Given the description of an element on the screen output the (x, y) to click on. 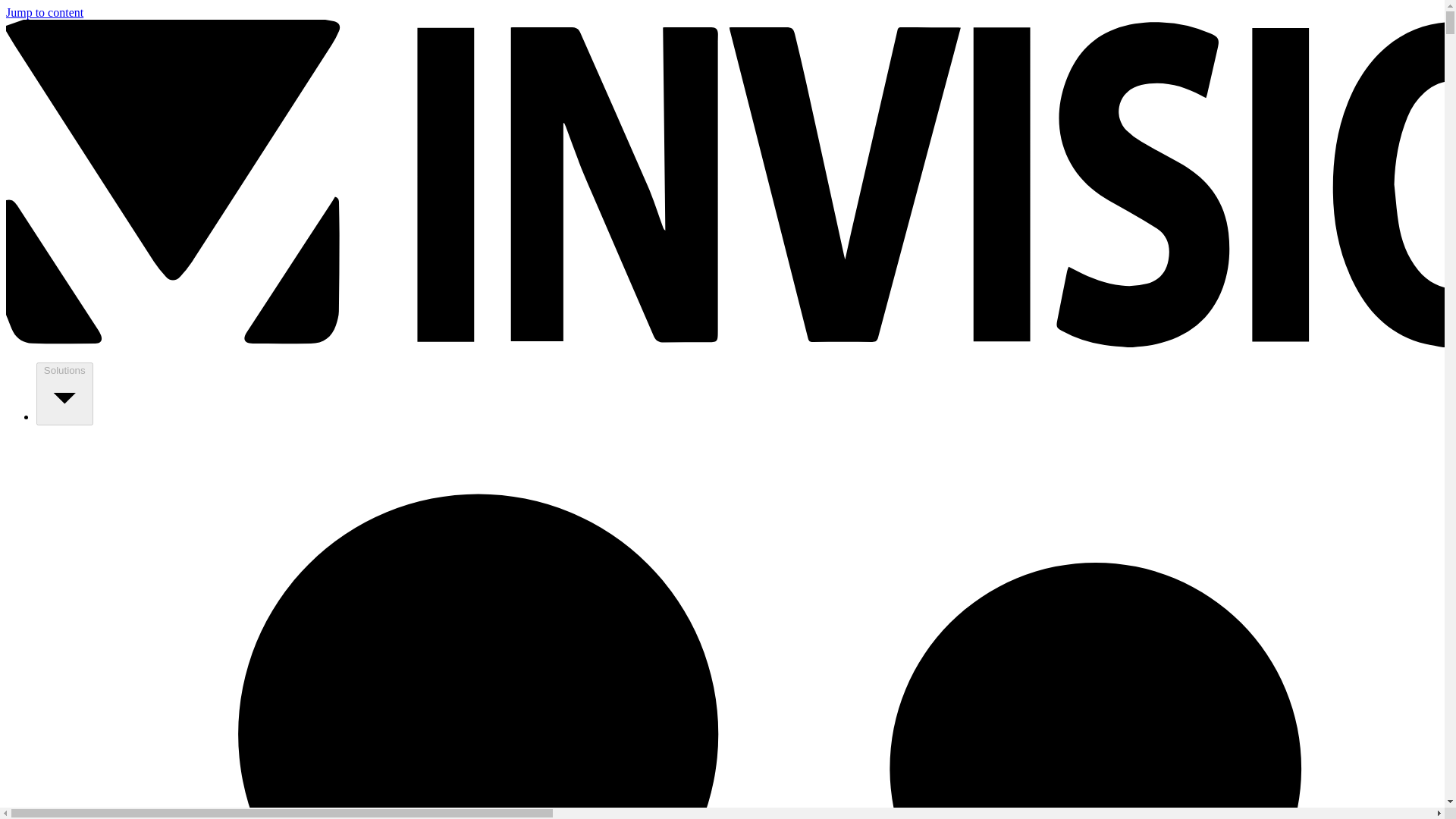
Jump to content (43, 11)
Go to main content on this page (43, 11)
Solutions (64, 393)
